Given the description of an element on the screen output the (x, y) to click on. 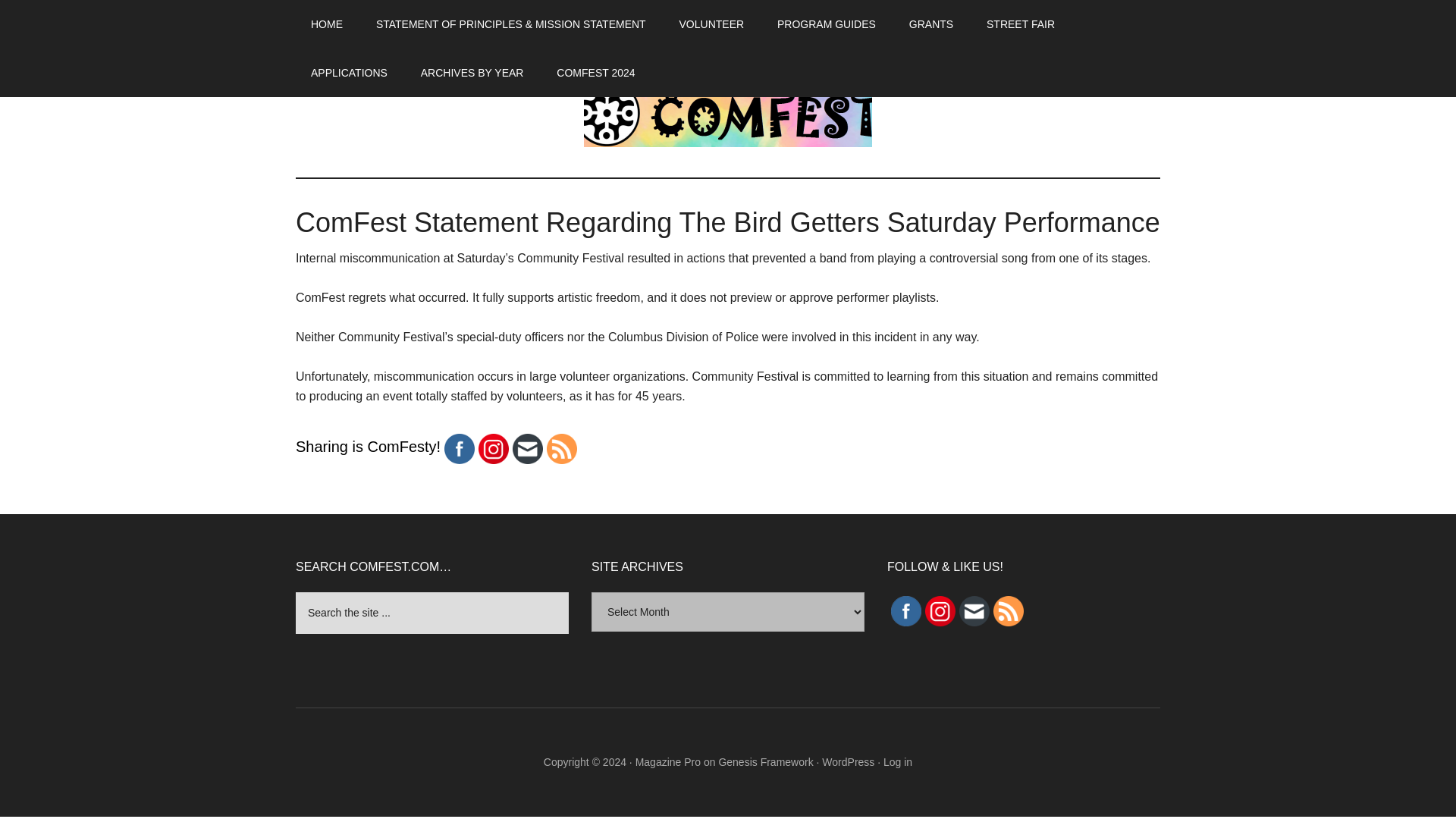
ARCHIVES BY YEAR (472, 72)
COMFEST 2024 (595, 72)
VOLUNTEER (711, 24)
PROGRAM GUIDES (826, 24)
HOME (326, 24)
GRANTS (930, 24)
